Given the description of an element on the screen output the (x, y) to click on. 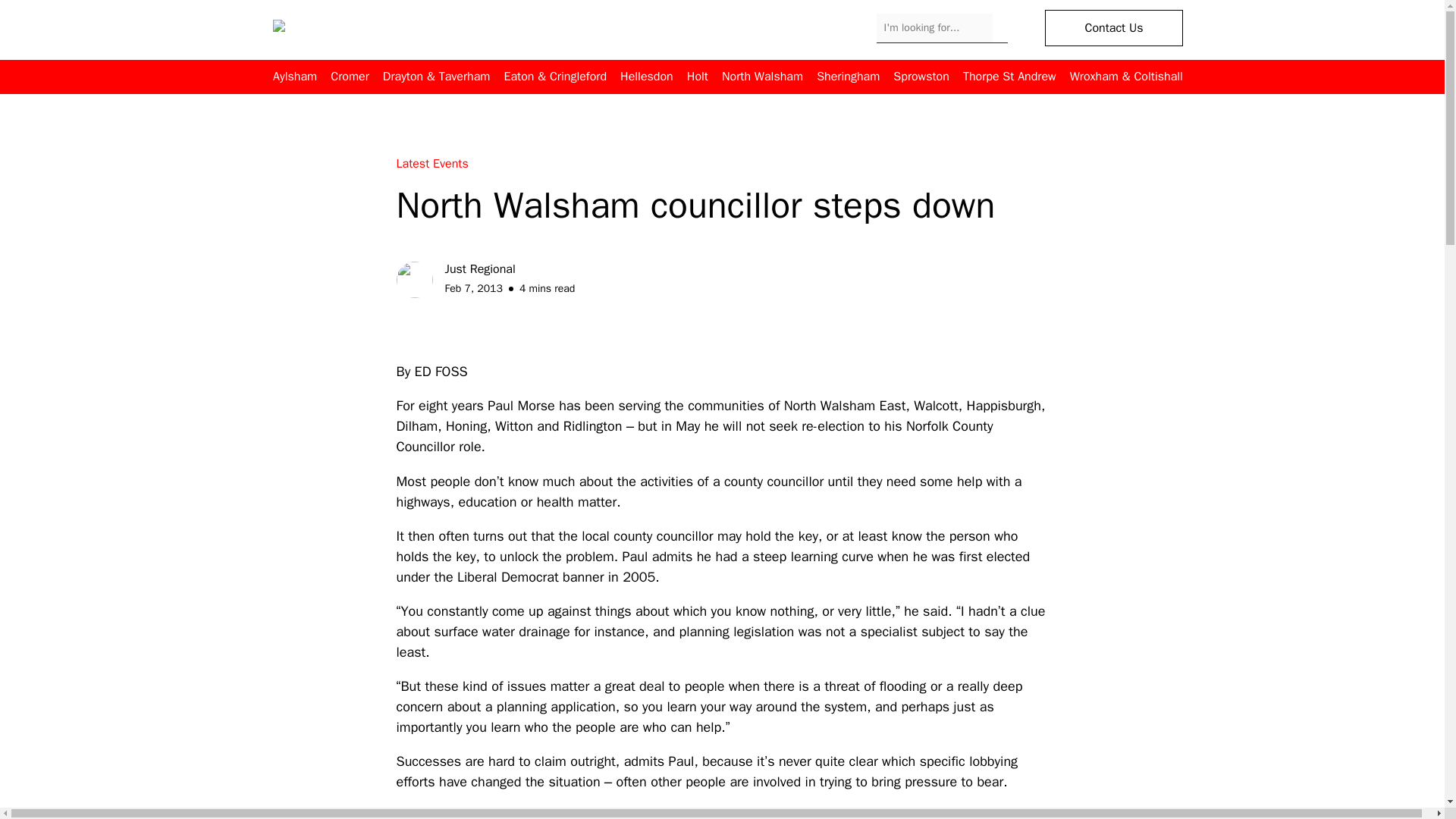
Contact Us (1113, 27)
Thorpe St Andrew (1009, 76)
North Walsham (762, 76)
Cromer (349, 76)
Hellesdon (646, 76)
Sheringham (847, 76)
Aylsham (295, 76)
Sprowston (921, 76)
